Given the description of an element on the screen output the (x, y) to click on. 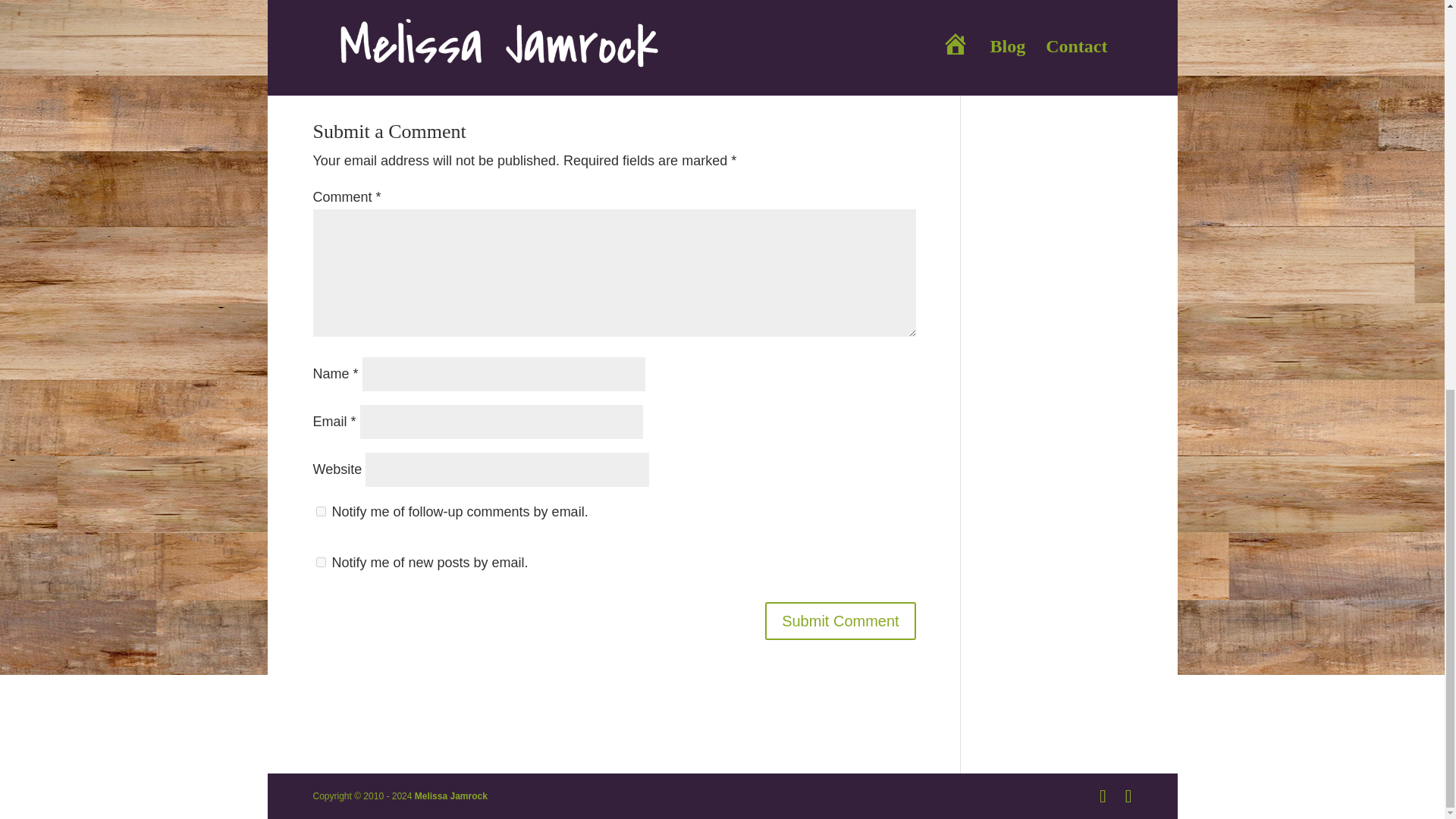
Melissa Jamrock (450, 796)
subscribe (319, 562)
Submit Comment (840, 620)
Submit Comment (840, 620)
subscribe (319, 511)
